Given the description of an element on the screen output the (x, y) to click on. 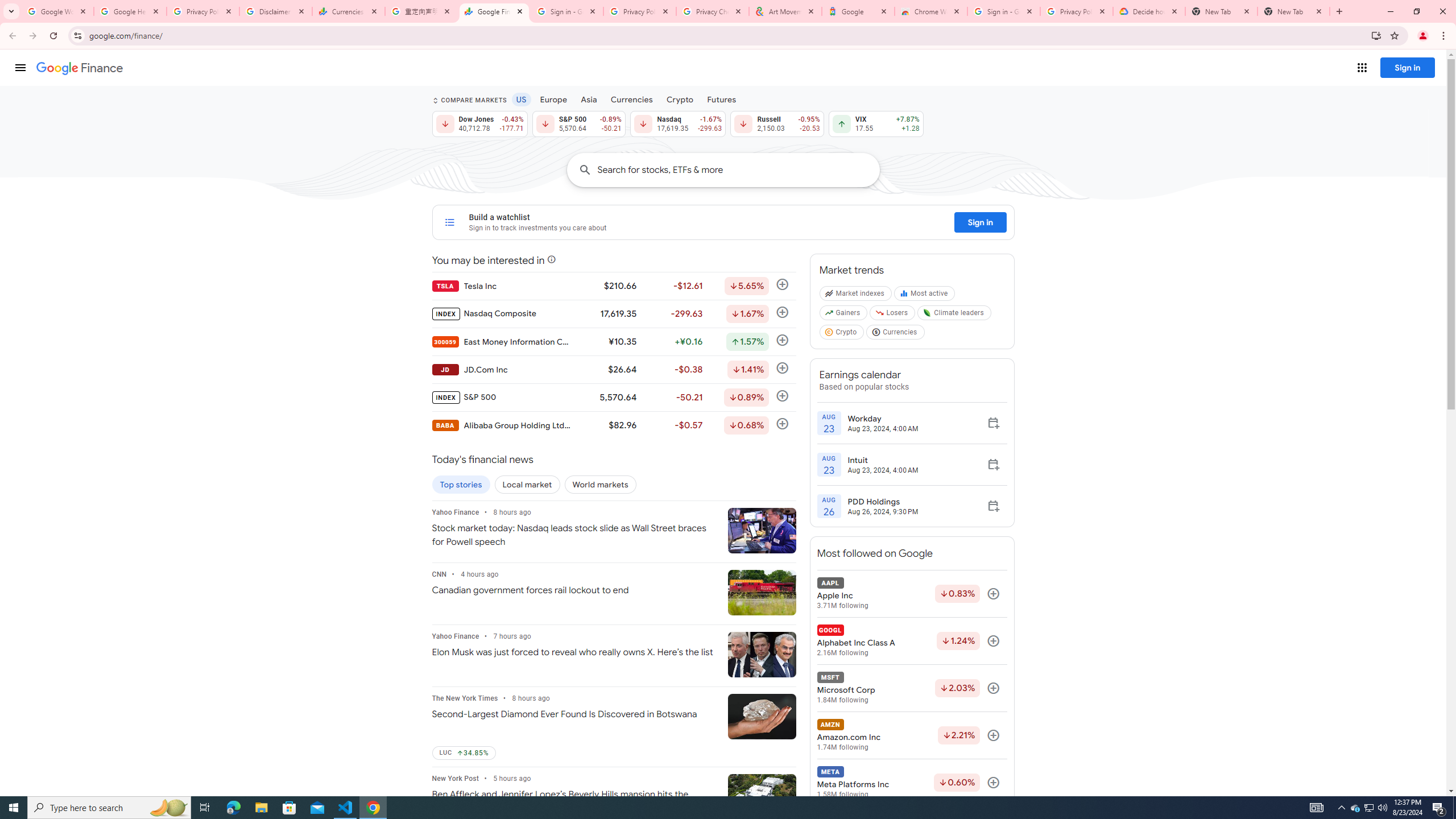
AMZN Amazon.com Inc 1.74M following Down by 2.21% Follow (911, 735)
Currencies - Google Finance (348, 11)
Google Workspace Admin Community (57, 11)
Main menu (20, 67)
Russell 2,150.03 Down by 0.95% -20.53 (777, 123)
Currencies (631, 99)
Chrome Web Store - Color themes by Chrome (930, 11)
Google apps (1362, 67)
Follow (993, 782)
